Given the description of an element on the screen output the (x, y) to click on. 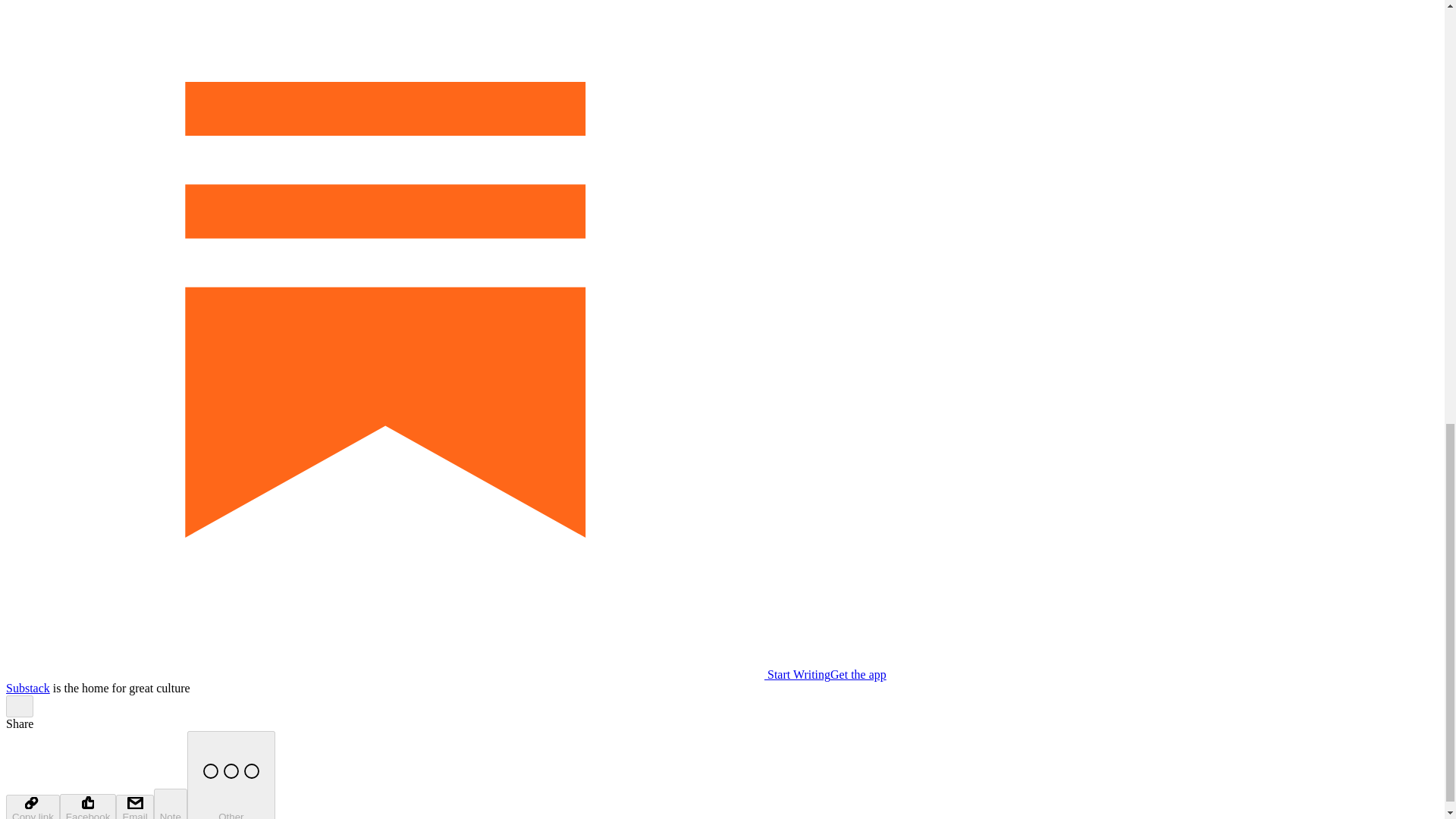
Start Writing (417, 674)
Substack (27, 687)
Get the app (857, 674)
